Given the description of an element on the screen output the (x, y) to click on. 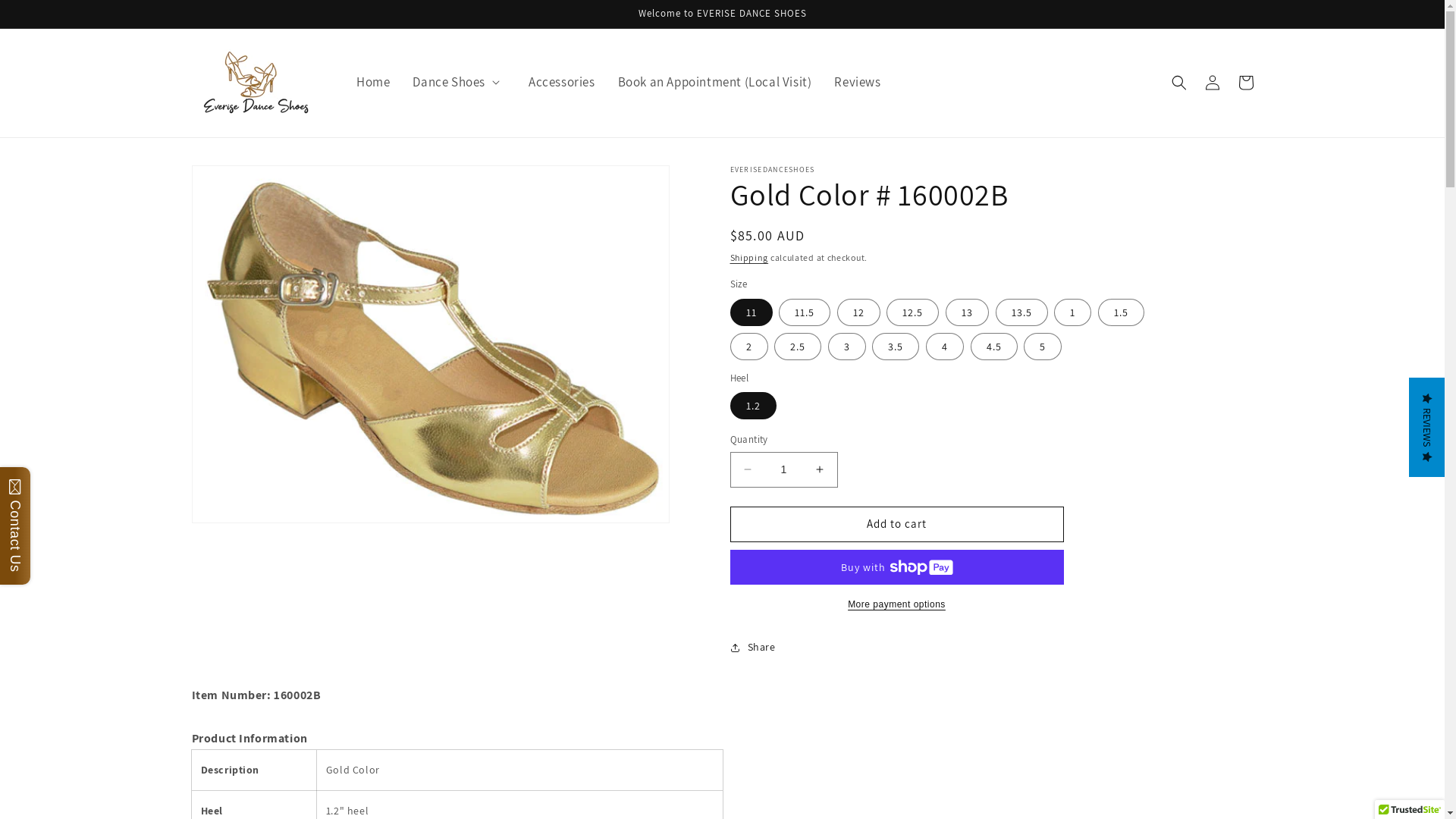
Decrease quantity for Gold Color # 160002B Element type: text (748, 469)
Cart Element type: text (1244, 82)
Reviews Element type: text (845, 81)
Home Element type: text (361, 81)
https://everisedanceshoes.com.au/products/gold-color-160002b Element type: text (820, 704)
More payment options Element type: text (896, 603)
Book an Appointment (Local Visit) Element type: text (703, 81)
Skip to product information Element type: text (237, 182)
Log in Element type: text (1211, 82)
Increase quantity for Gold Color # 160002B Element type: text (819, 469)
Accessories Element type: text (550, 81)
Shipping Element type: text (748, 257)
Add to cart Element type: text (896, 524)
